Given the description of an element on the screen output the (x, y) to click on. 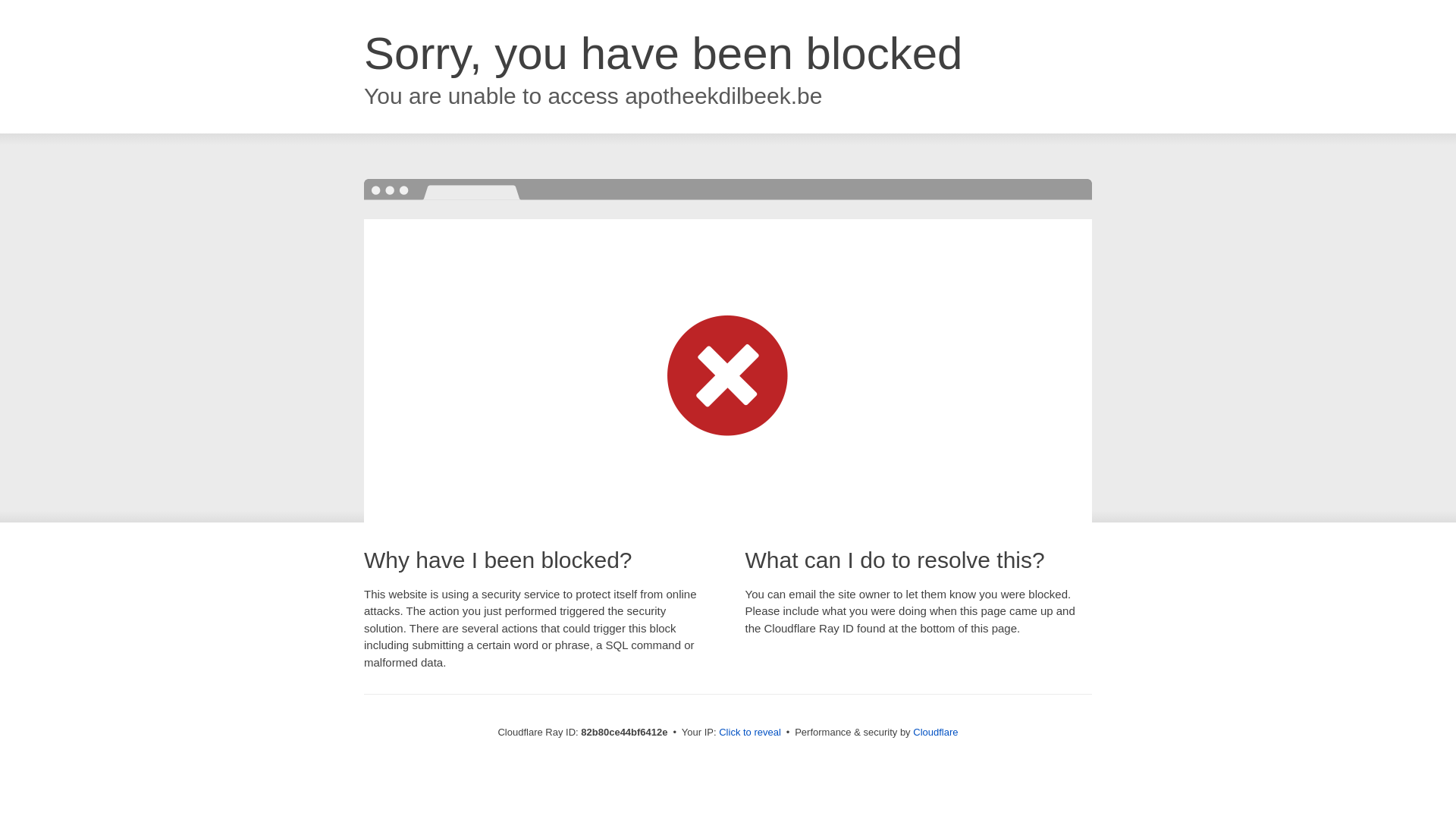
Click to reveal Element type: text (749, 732)
Cloudflare Element type: text (935, 731)
